Given the description of an element on the screen output the (x, y) to click on. 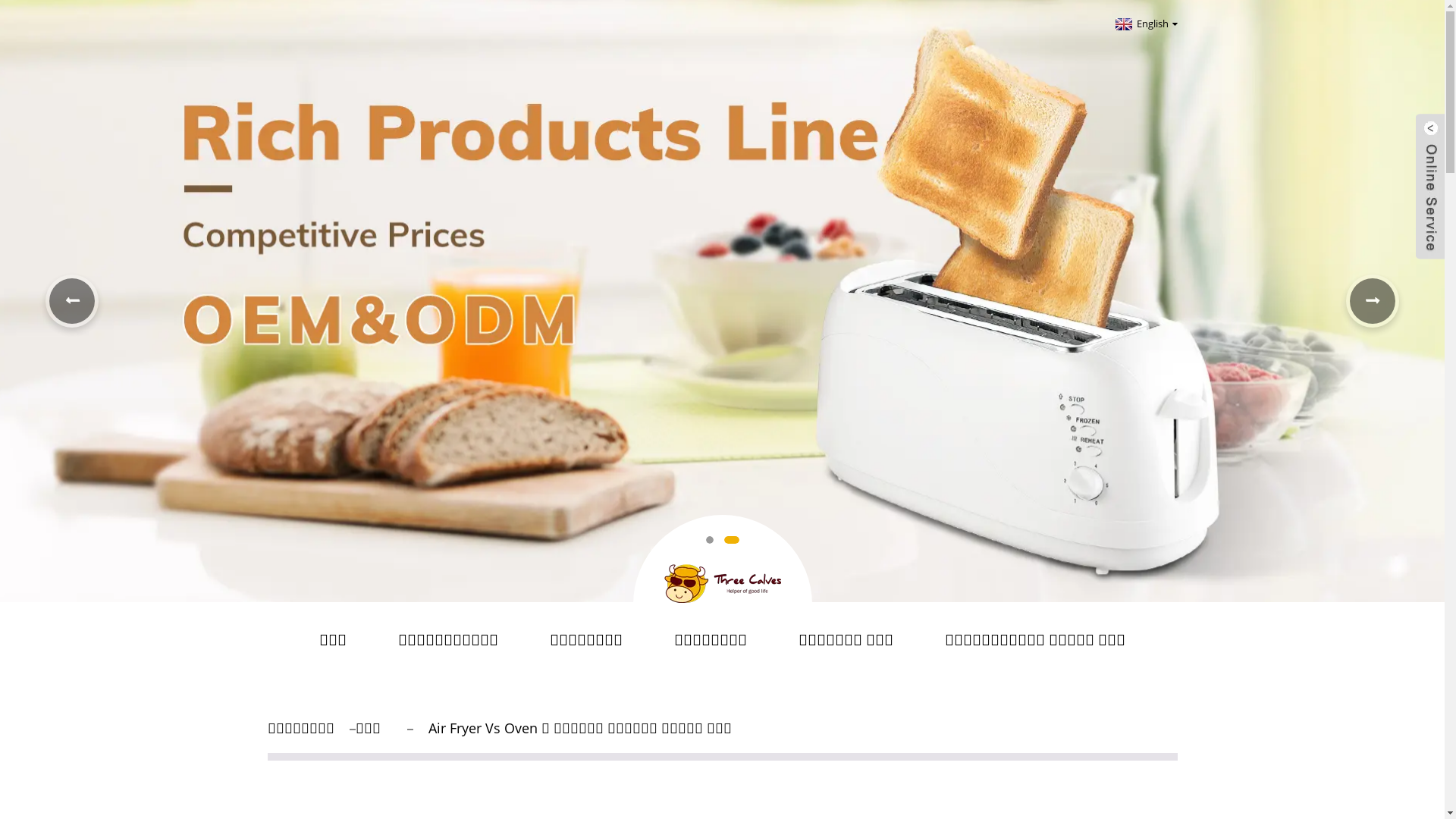
English Element type: text (1144, 23)
